Given the description of an element on the screen output the (x, y) to click on. 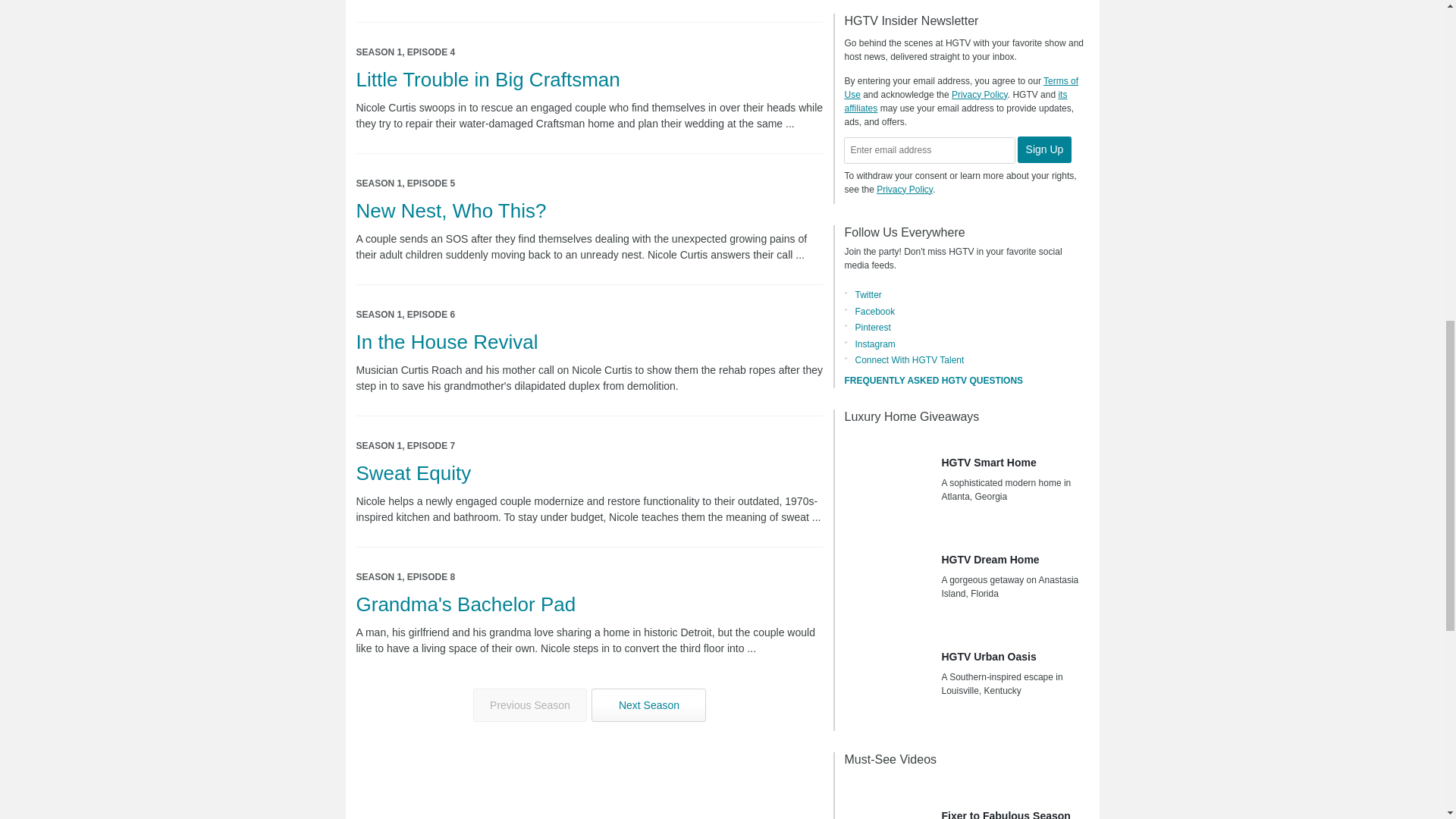
Fixer to Fabulous Season One Highlights (887, 800)
HGTV Urban Oasis (887, 676)
HGTV Smart Home (887, 482)
HGTV Dream Home (887, 580)
